Given the description of an element on the screen output the (x, y) to click on. 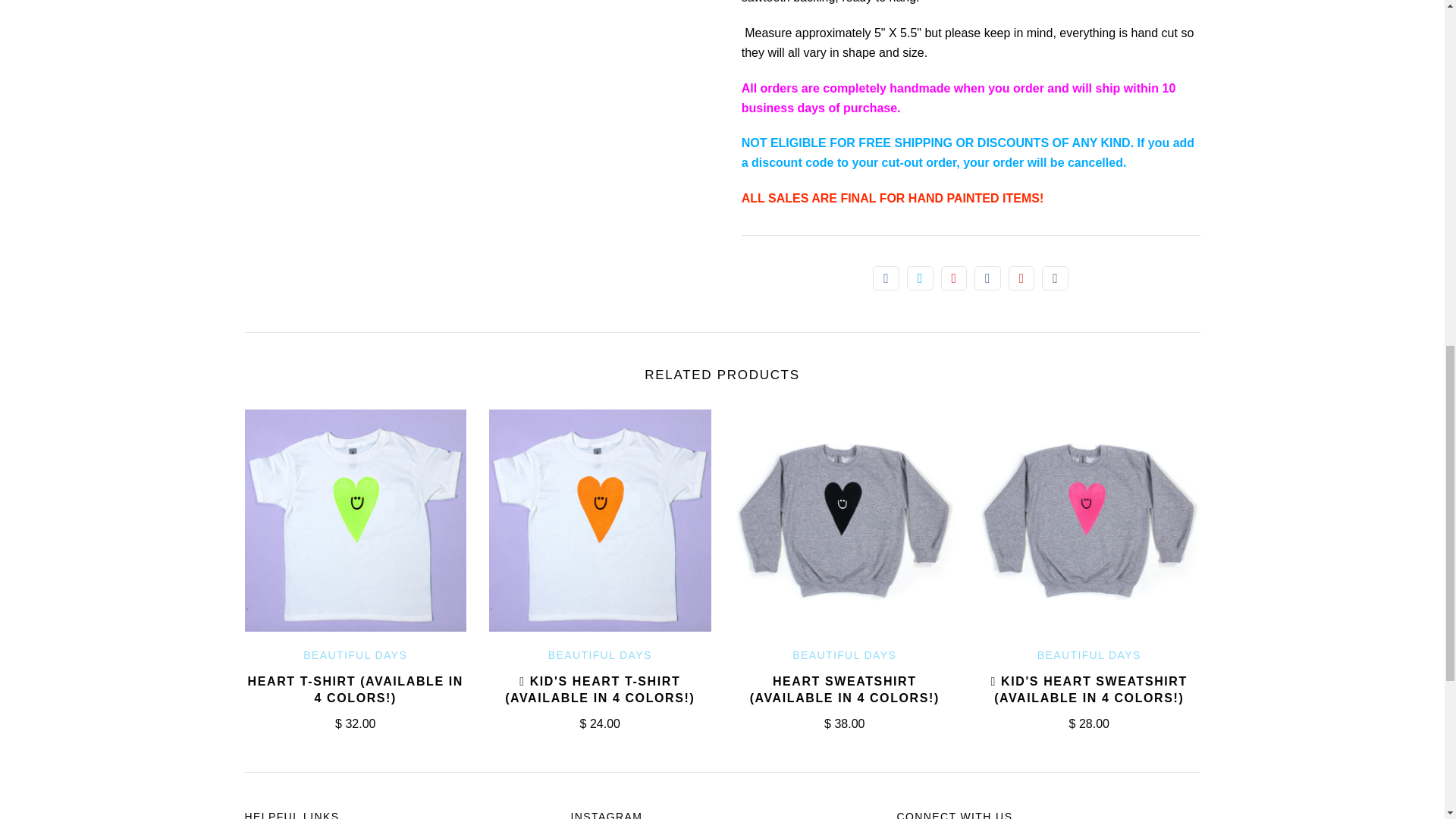
Pin it (954, 278)
Like (885, 278)
Beautiful Days (1088, 654)
Email (1055, 278)
BEAUTIFUL DAYS (844, 654)
BEAUTIFUL DAYS (600, 654)
Beautiful Days (844, 654)
Beautiful Days (600, 654)
Beautiful Days (354, 654)
BEAUTIFUL DAYS (1088, 654)
